Given the description of an element on the screen output the (x, y) to click on. 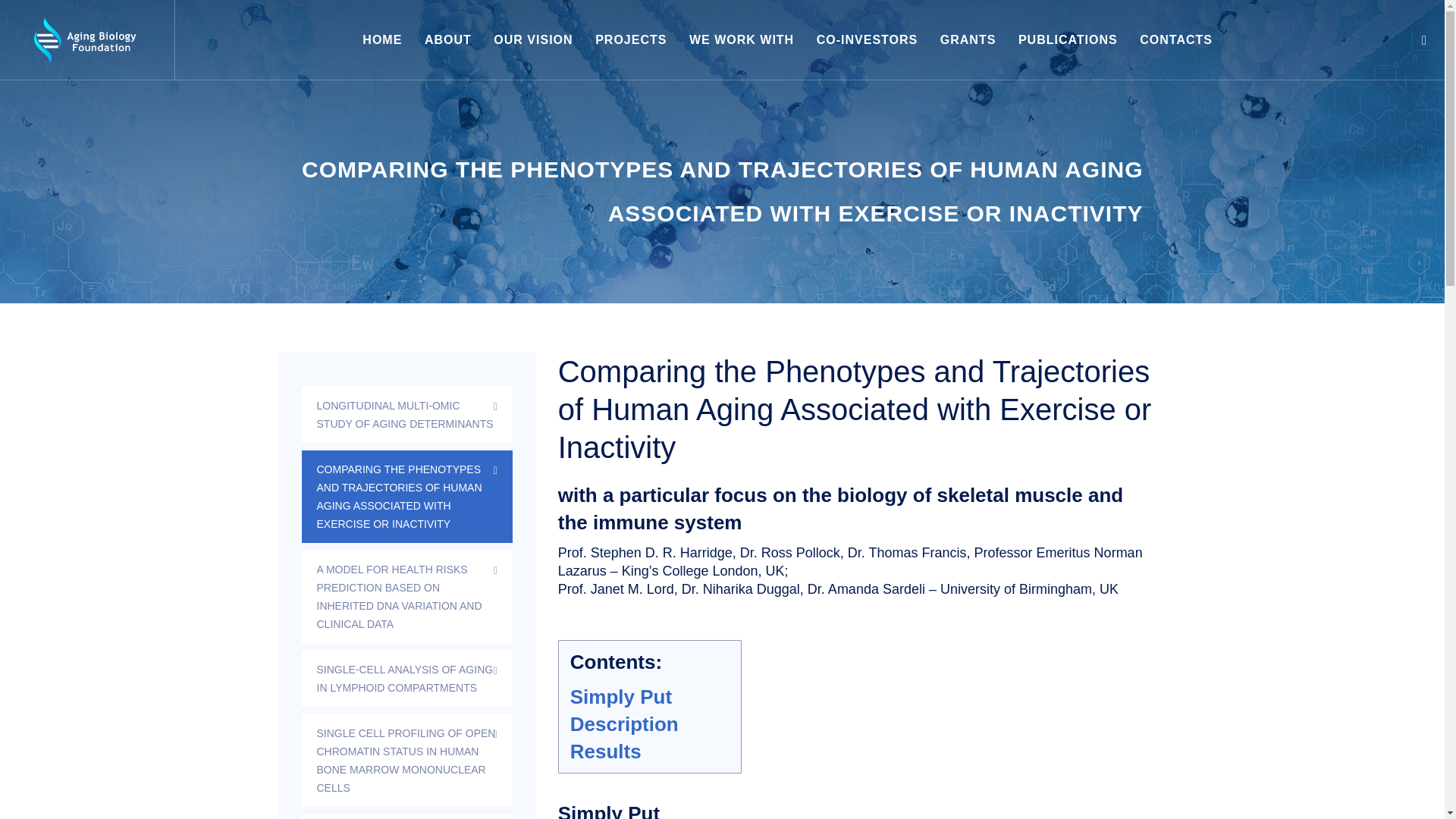
PUBLICATIONS (1067, 39)
CO-INVESTORS (867, 39)
OUR VISION (532, 39)
Simply Put (620, 696)
CONTACTS (1176, 39)
Search (1423, 40)
Results (606, 751)
WE WORK WITH (740, 39)
Aging Biology Foundation (84, 39)
